Given the description of an element on the screen output the (x, y) to click on. 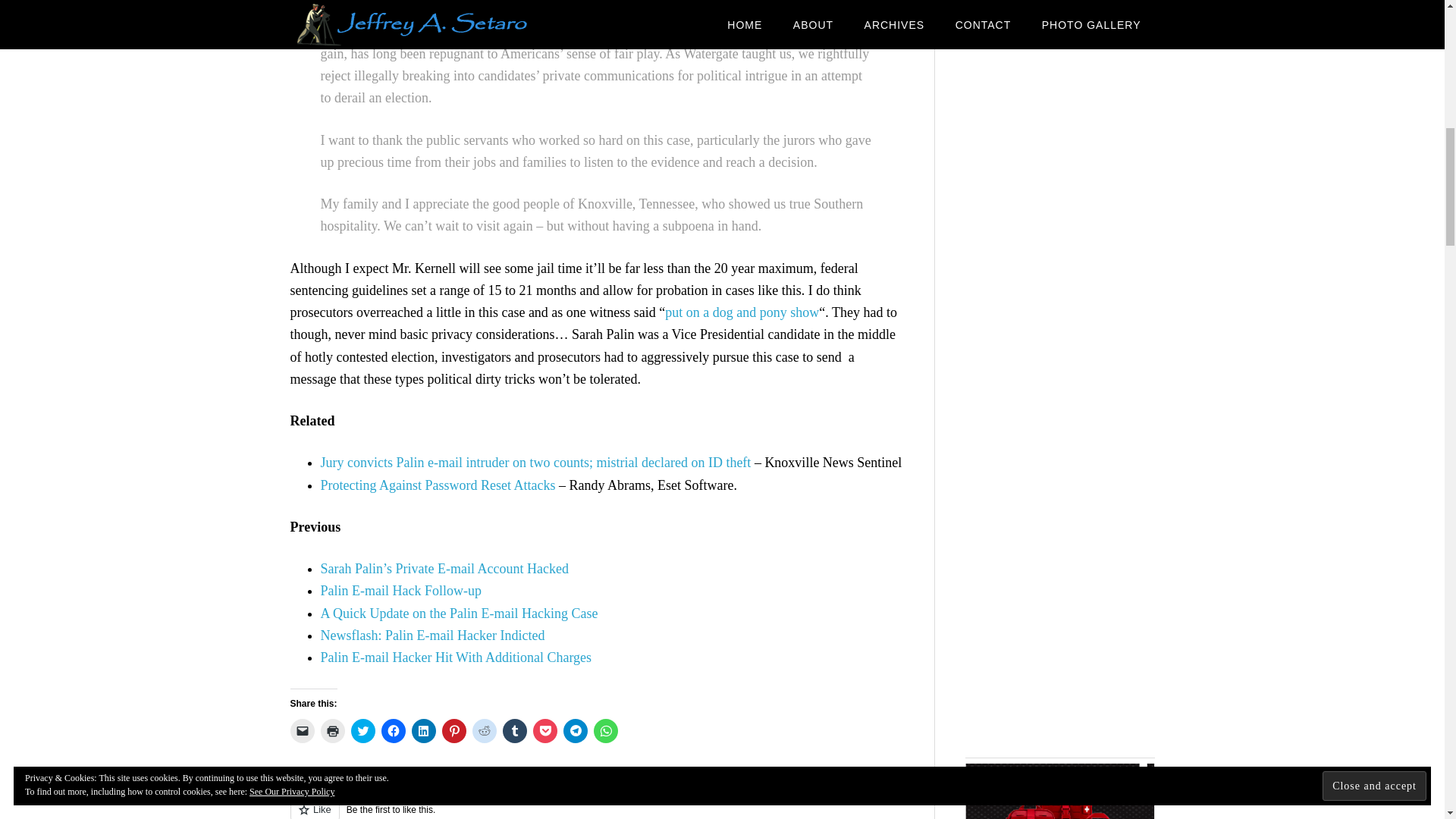
put on a dog and pony show (741, 312)
Protecting Against Password Reset Attacks (437, 485)
Click to share on LinkedIn (422, 730)
Click to share on Reddit (483, 730)
A Quick Update on the Palin E-mail Hacking Case (458, 612)
Newsflash: Palin E-mail Hacker Indicted (432, 635)
Click to share on Pocket (544, 730)
Click to print (331, 730)
Click to share on Facebook (392, 730)
